Given the description of an element on the screen output the (x, y) to click on. 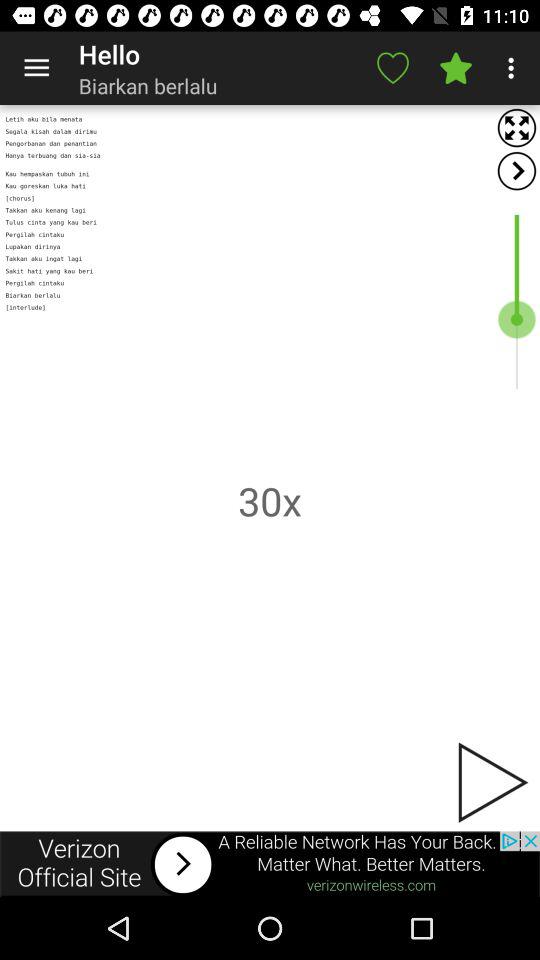
click verizon advertisement (270, 864)
